Given the description of an element on the screen output the (x, y) to click on. 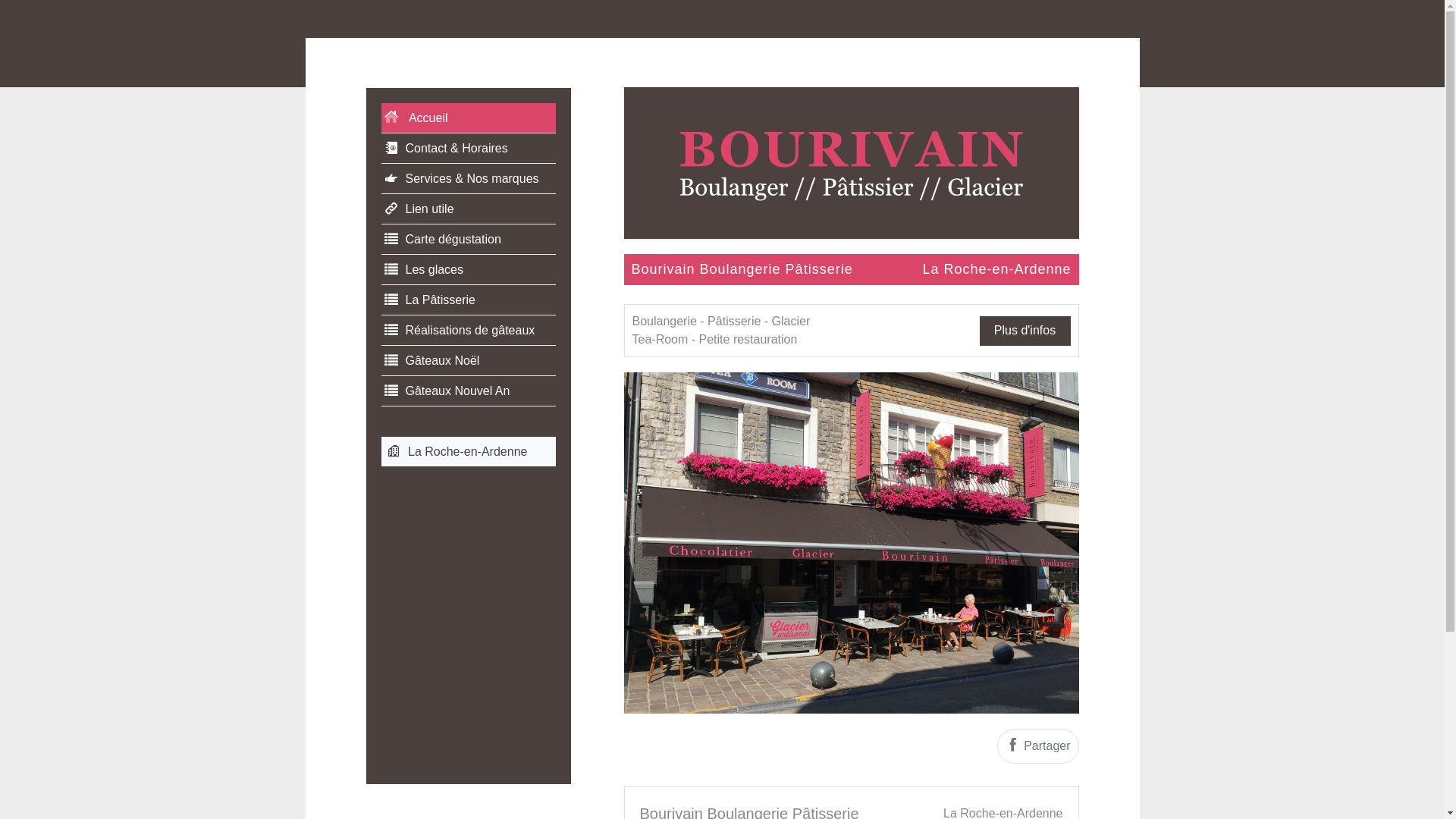
Lien utile Element type: text (467, 209)
Accueil Element type: text (467, 118)
Services & Nos marques Element type: text (467, 178)
Contact & Horaires Element type: text (467, 148)
Partager Element type: text (1038, 745)
Les glaces Element type: text (467, 269)
La Roche-en-Ardenne Element type: text (467, 451)
Plus d'infos Element type: text (1024, 330)
